Given the description of an element on the screen output the (x, y) to click on. 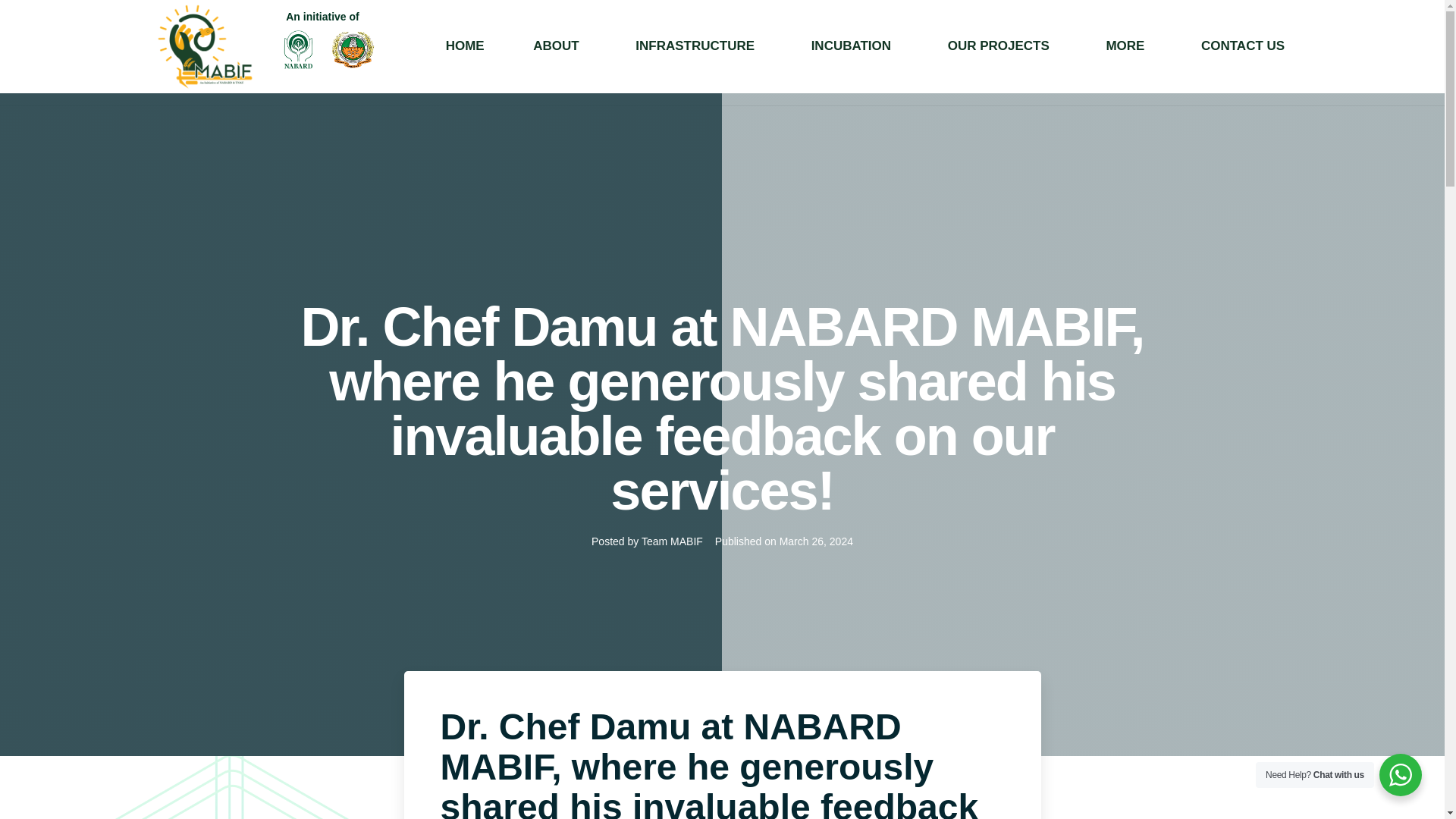
INCUBATION (853, 46)
CONTACT US (1242, 46)
INFRASTRUCTURE (718, 46)
MORE (1122, 46)
HOME (424, 45)
OUR PROJECTS (1000, 46)
ABOUT (524, 45)
